Given the description of an element on the screen output the (x, y) to click on. 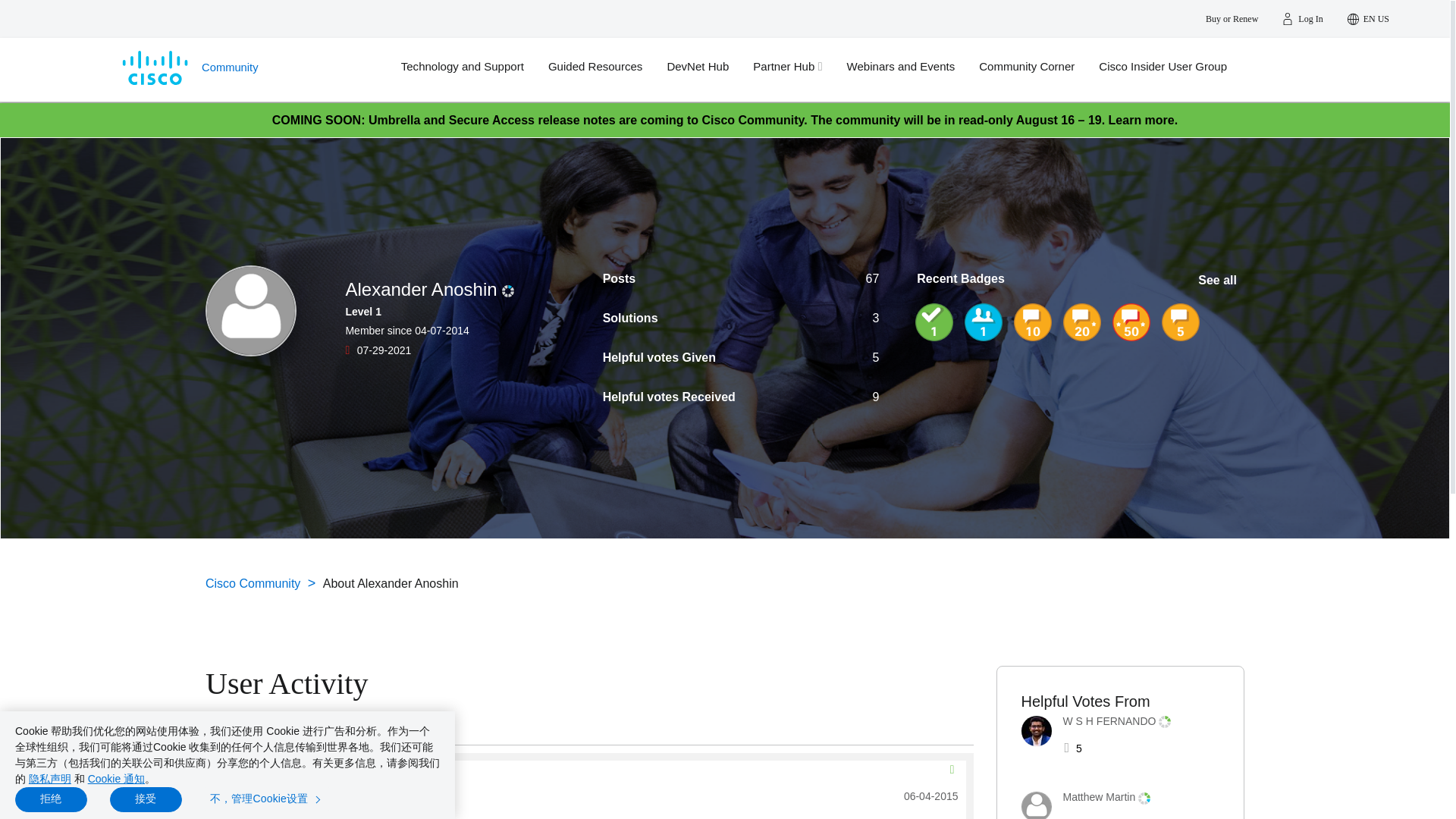
Level 1 (507, 291)
DevNet Hub (709, 66)
1 Helpful Vote (983, 322)
Guided Resources (607, 66)
10 Replies (1032, 322)
Technology and Support (474, 66)
20 Replies (1081, 322)
1 Accepted Solution (934, 322)
5 Replies  (1180, 322)
50 Replies (1131, 322)
